Given the description of an element on the screen output the (x, y) to click on. 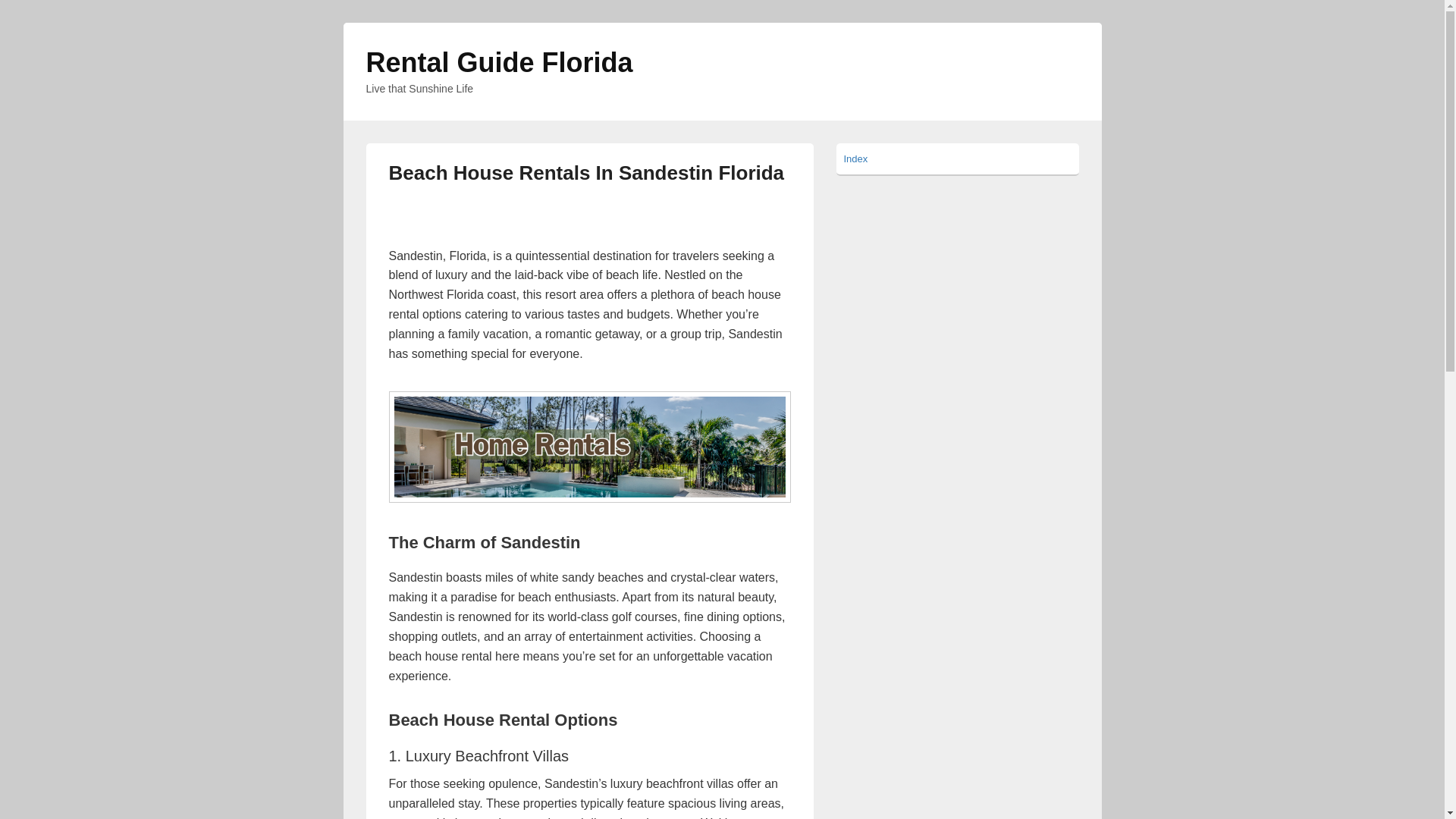
Rental Guide Florida (498, 61)
Index (855, 158)
Florida Home Rentals (589, 446)
